Given the description of an element on the screen output the (x, y) to click on. 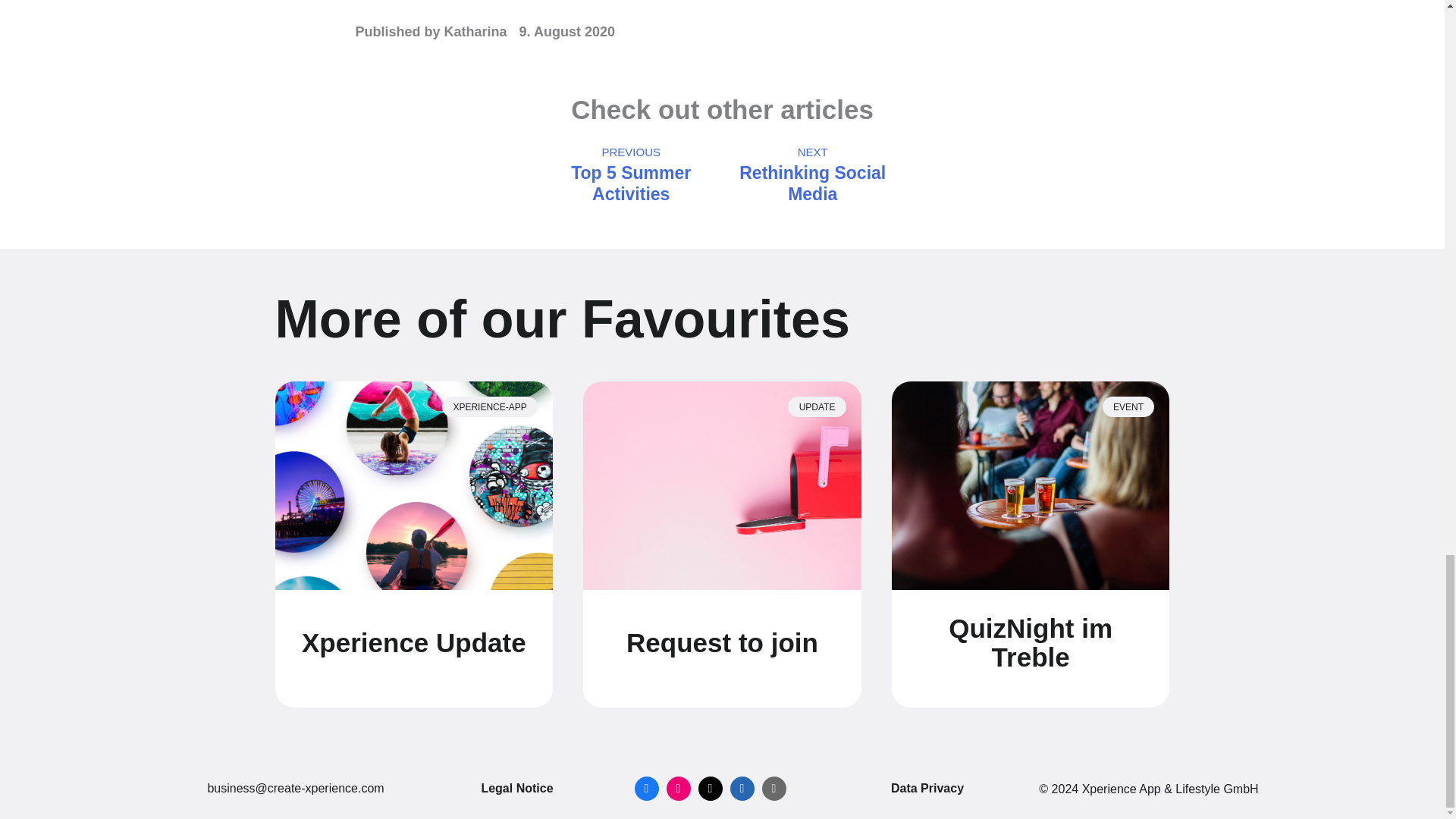
Xperience Update (413, 643)
QuizNight im Treble (1030, 643)
Request to join (722, 643)
